Given the description of an element on the screen output the (x, y) to click on. 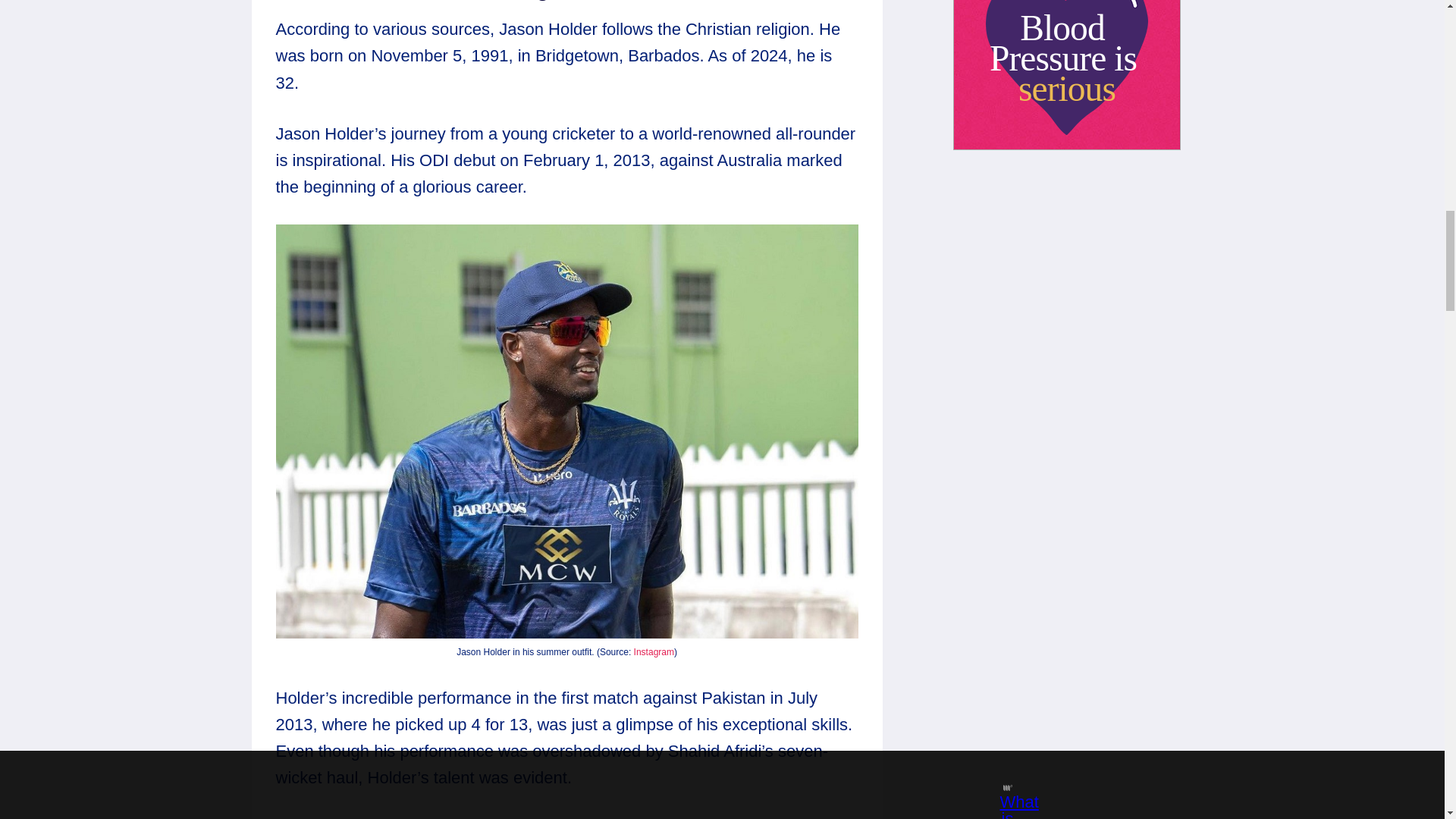
Instagram (653, 652)
